Given the description of an element on the screen output the (x, y) to click on. 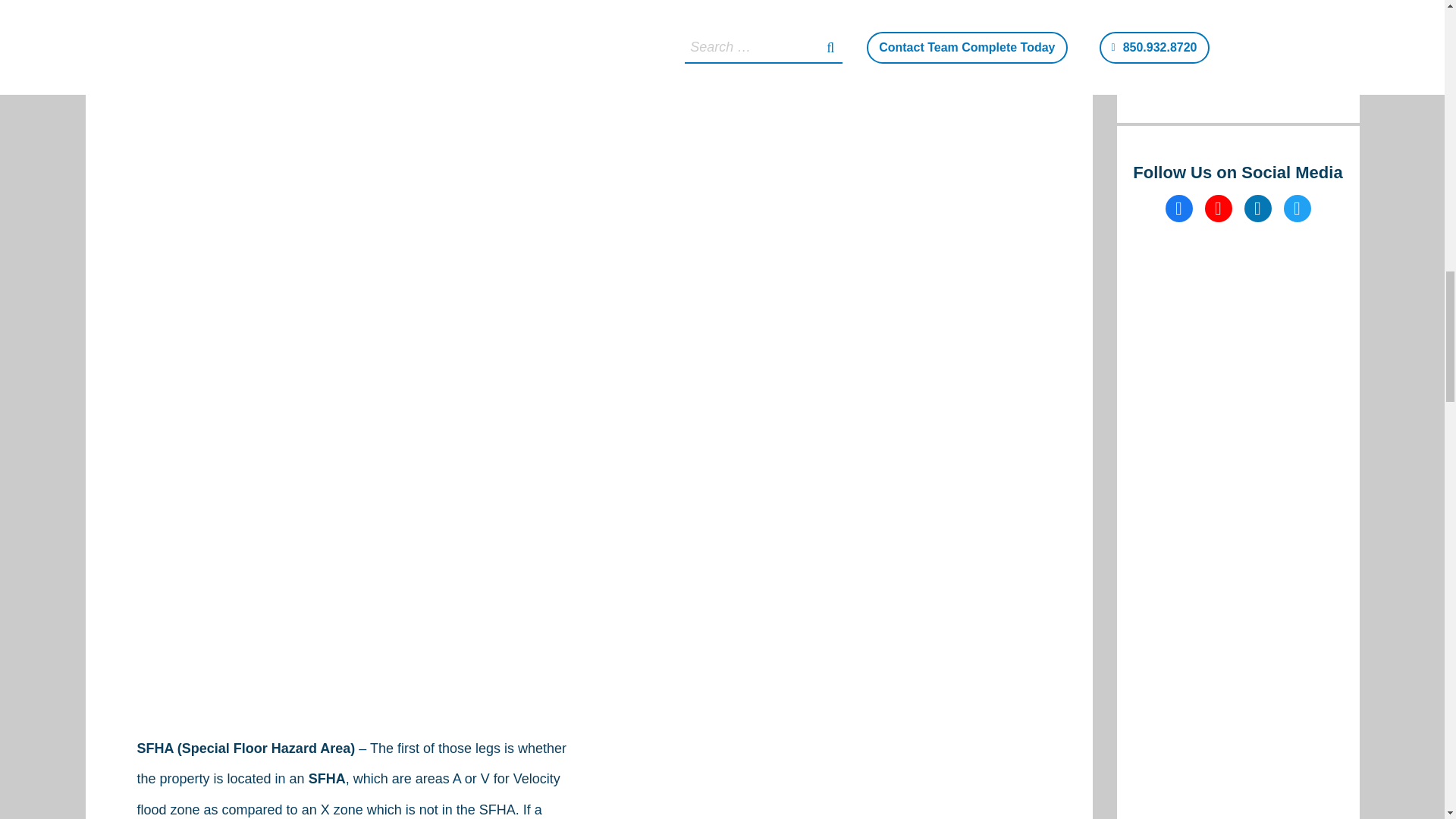
View videos on our YouTube channel (1217, 207)
Follow our Twitter feed (1296, 207)
Join us on LinkedIn (1257, 207)
Visit our Facebook Page (1178, 207)
